Given the description of an element on the screen output the (x, y) to click on. 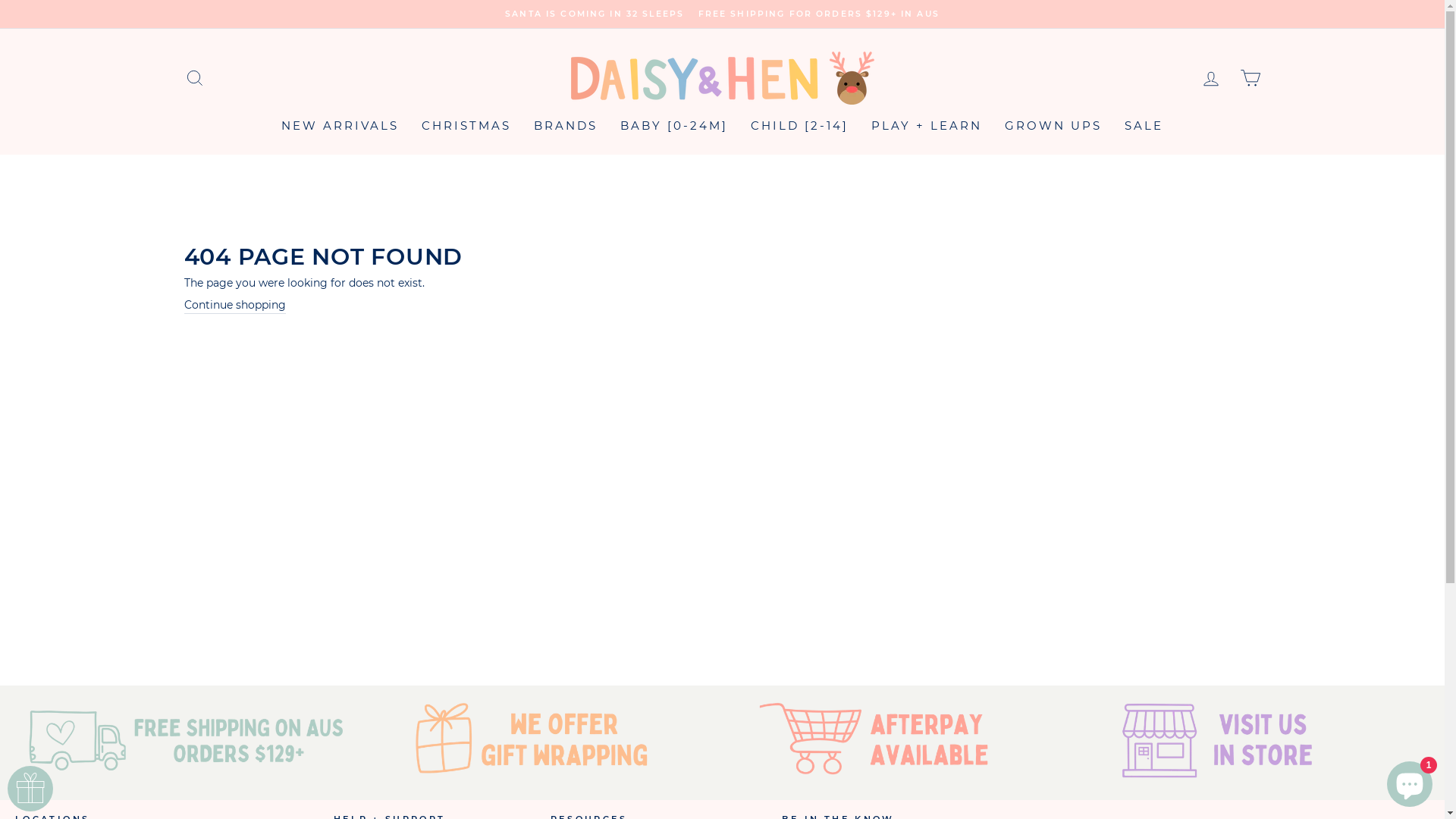
Continue shopping Element type: text (234, 305)
Shopify online store chat Element type: hover (1409, 780)
ACCOUNT
LOG IN Element type: text (1210, 77)
SALE Element type: text (1143, 125)
ICON-SEARCH
SEARCH Element type: text (193, 77)
CART Element type: text (1249, 77)
